Given the description of an element on the screen output the (x, y) to click on. 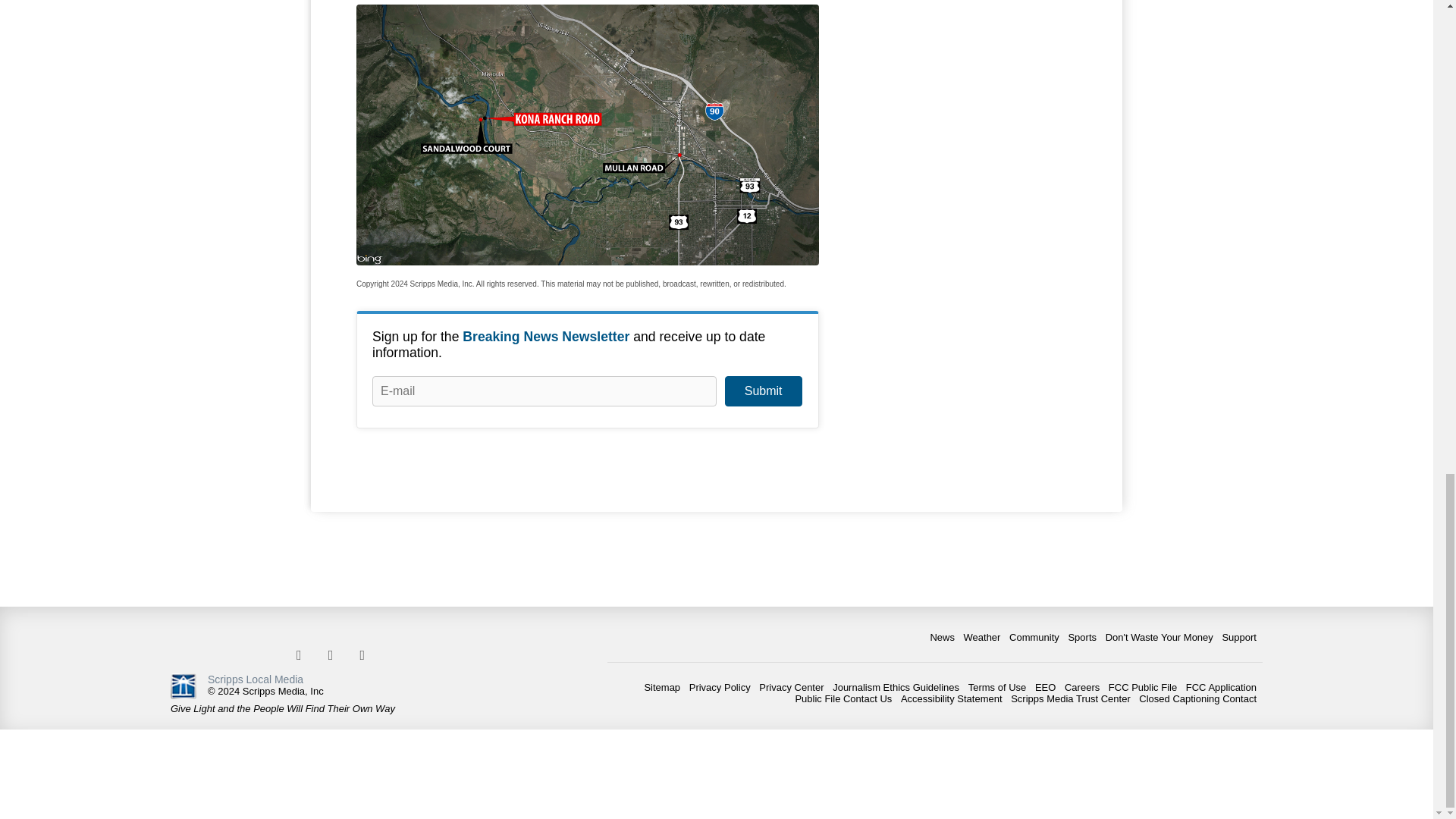
Submit (763, 390)
